Given the description of an element on the screen output the (x, y) to click on. 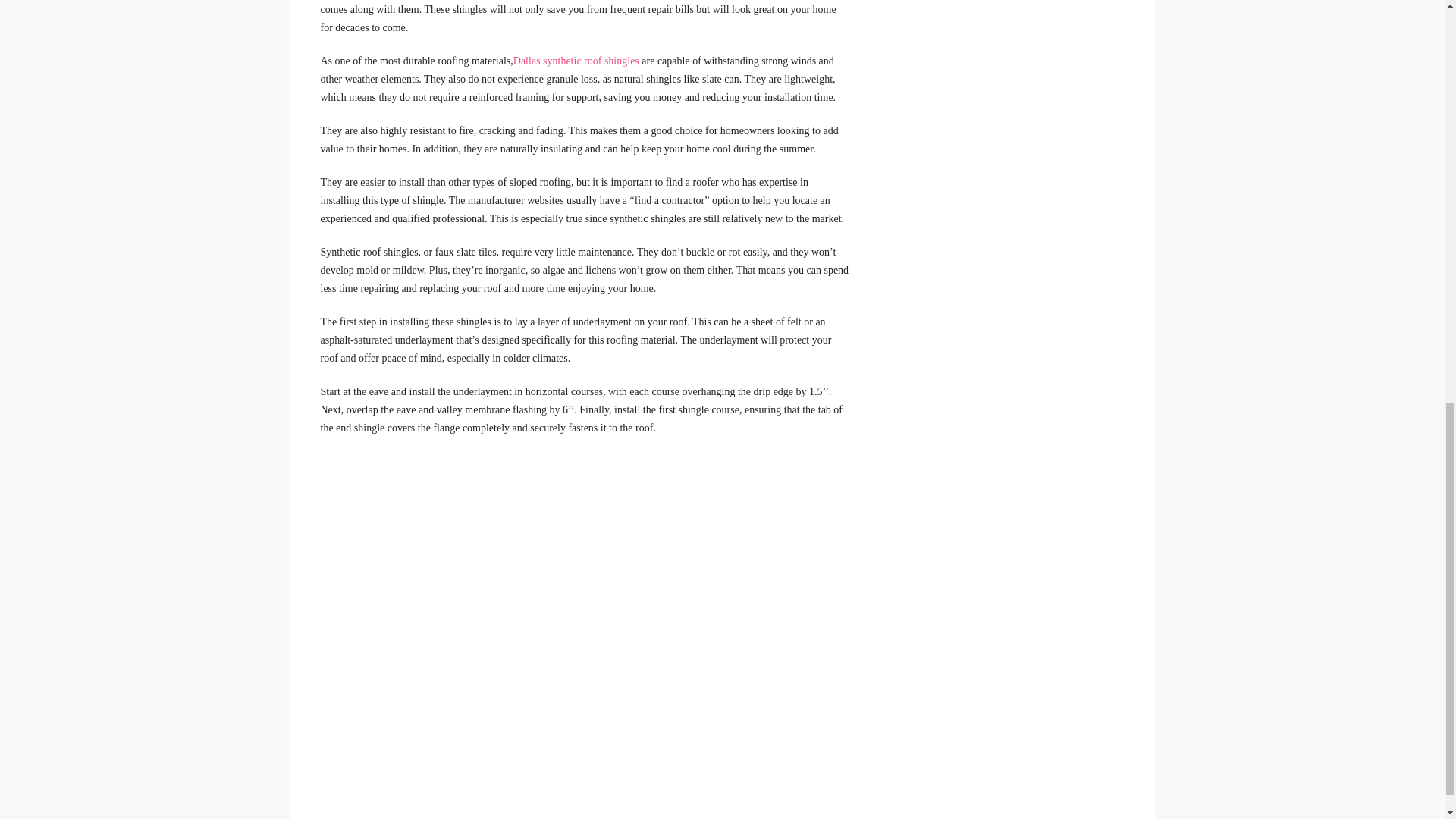
YouTube video player (532, 571)
Dallas synthetic roof shingles (576, 60)
